Given the description of an element on the screen output the (x, y) to click on. 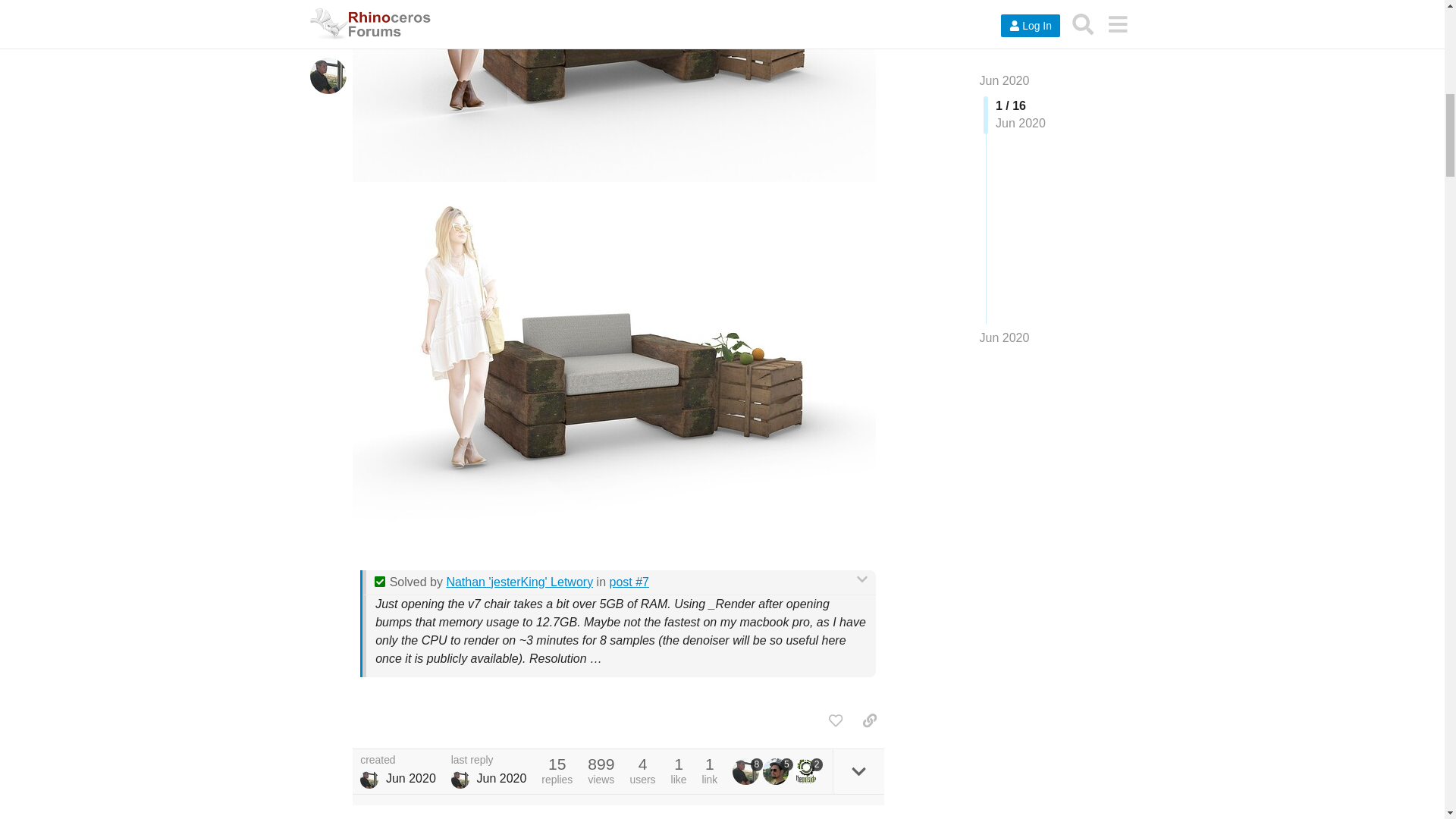
copy a link to this post to clipboard (869, 720)
2 (808, 770)
like this post (835, 720)
5 (777, 770)
expand topic details (857, 771)
last reply (489, 760)
8 (747, 770)
Nathan 'jesterKing' Letwory (518, 581)
